Given the description of an element on the screen output the (x, y) to click on. 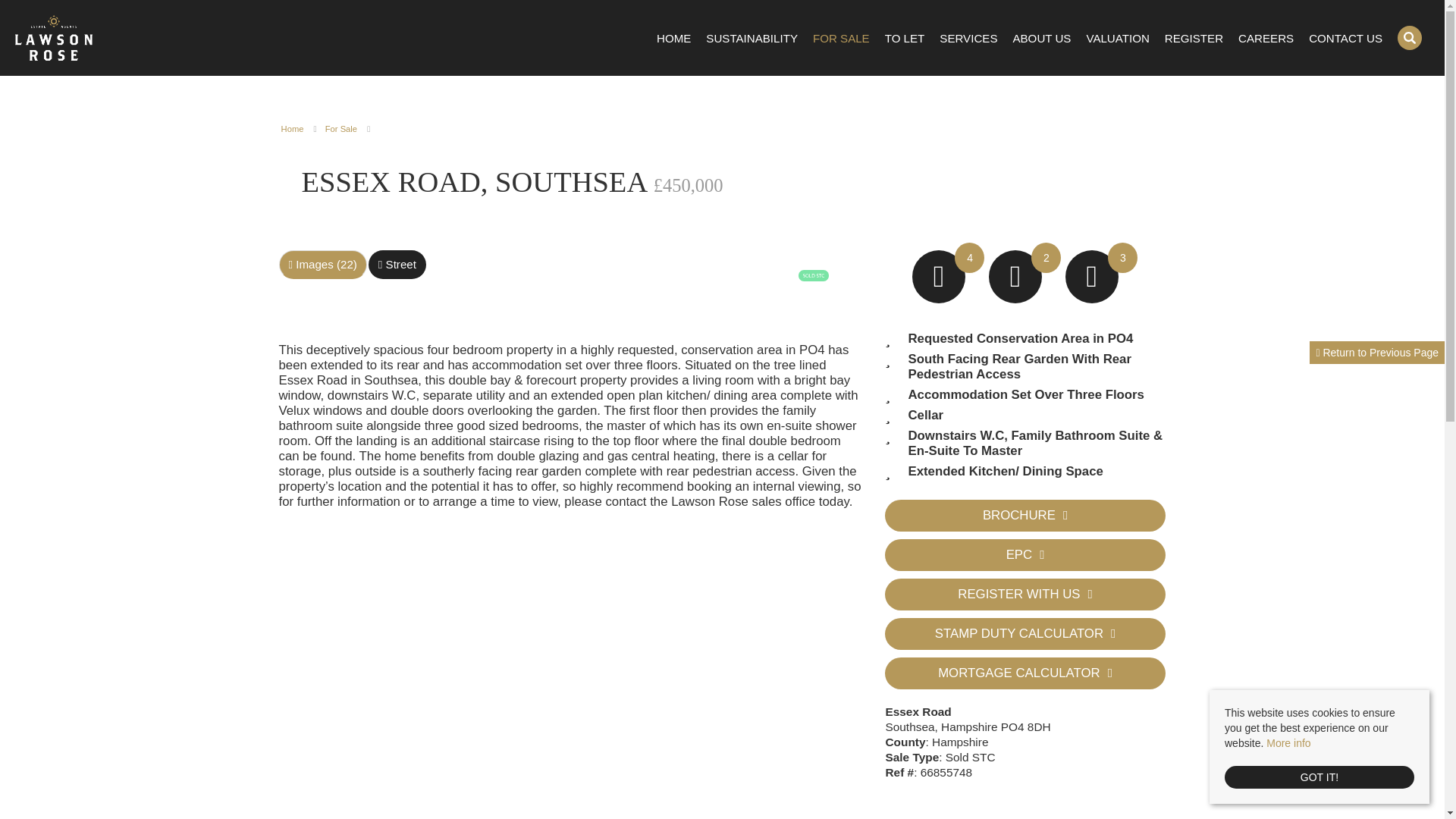
REGISTER (1193, 38)
TO LET (904, 38)
SERVICES (968, 38)
ABOUT US (1040, 38)
VALUATION (1117, 38)
HOME (673, 38)
CAREERS (1266, 38)
CONTACT US (1344, 38)
FOR SALE (840, 38)
For Sale (340, 128)
Home (292, 128)
SUSTAINABILITY (751, 38)
